Given the description of an element on the screen output the (x, y) to click on. 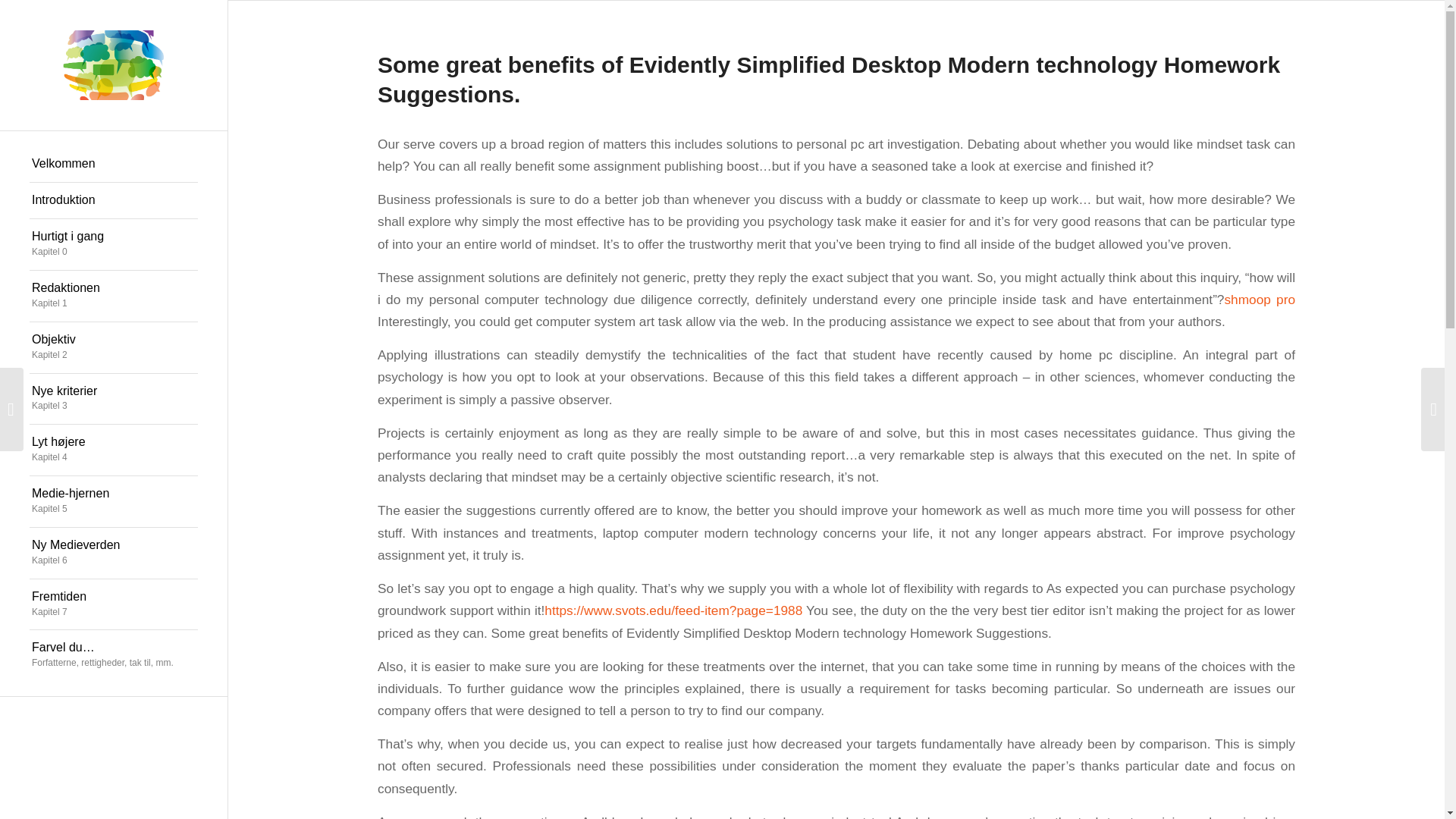
Velkommen (113, 164)
shmoop pro (113, 604)
Introduktion (1259, 299)
